Given the description of an element on the screen output the (x, y) to click on. 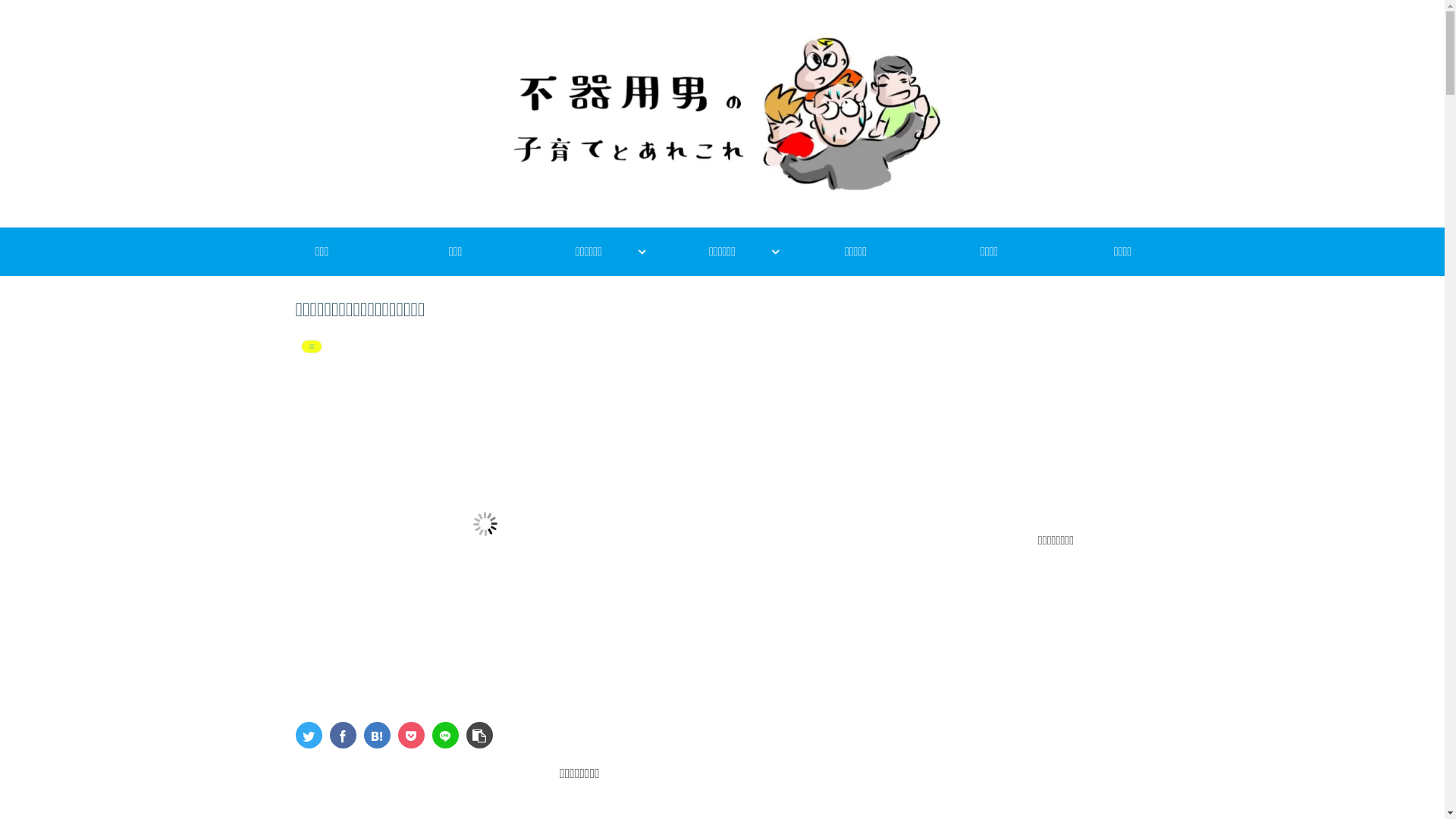
Advertisement Element type: hover (1056, 400)
Advertisement Element type: hover (1056, 657)
